Given the description of an element on the screen output the (x, y) to click on. 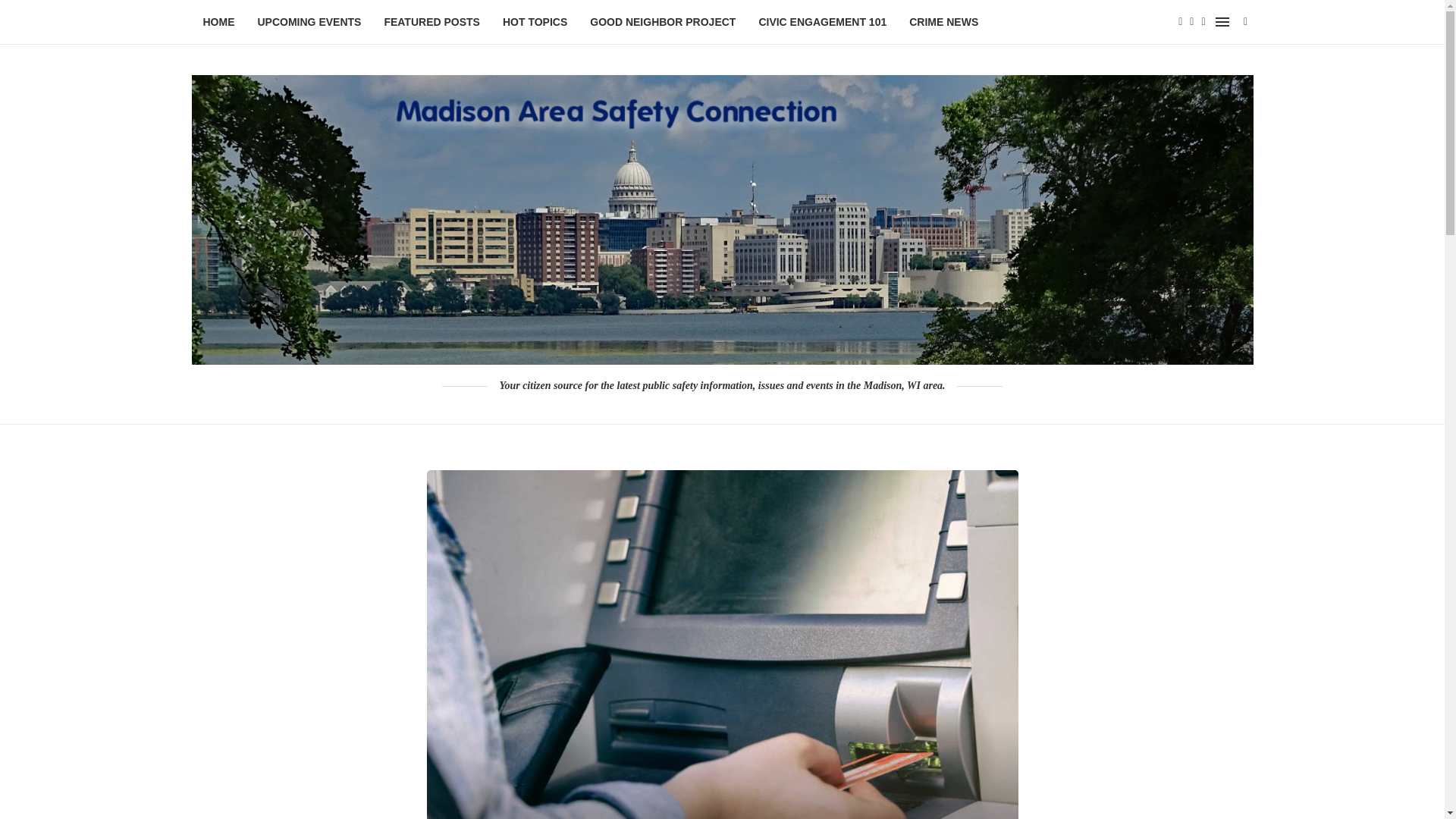
HOME (218, 22)
GOOD NEIGHBOR PROJECT (662, 22)
CRIME NEWS (944, 22)
FEATURED POSTS (432, 22)
CIVIC ENGAGEMENT 101 (822, 22)
HOT TOPICS (535, 22)
UPCOMING EVENTS (309, 22)
